Given the description of an element on the screen output the (x, y) to click on. 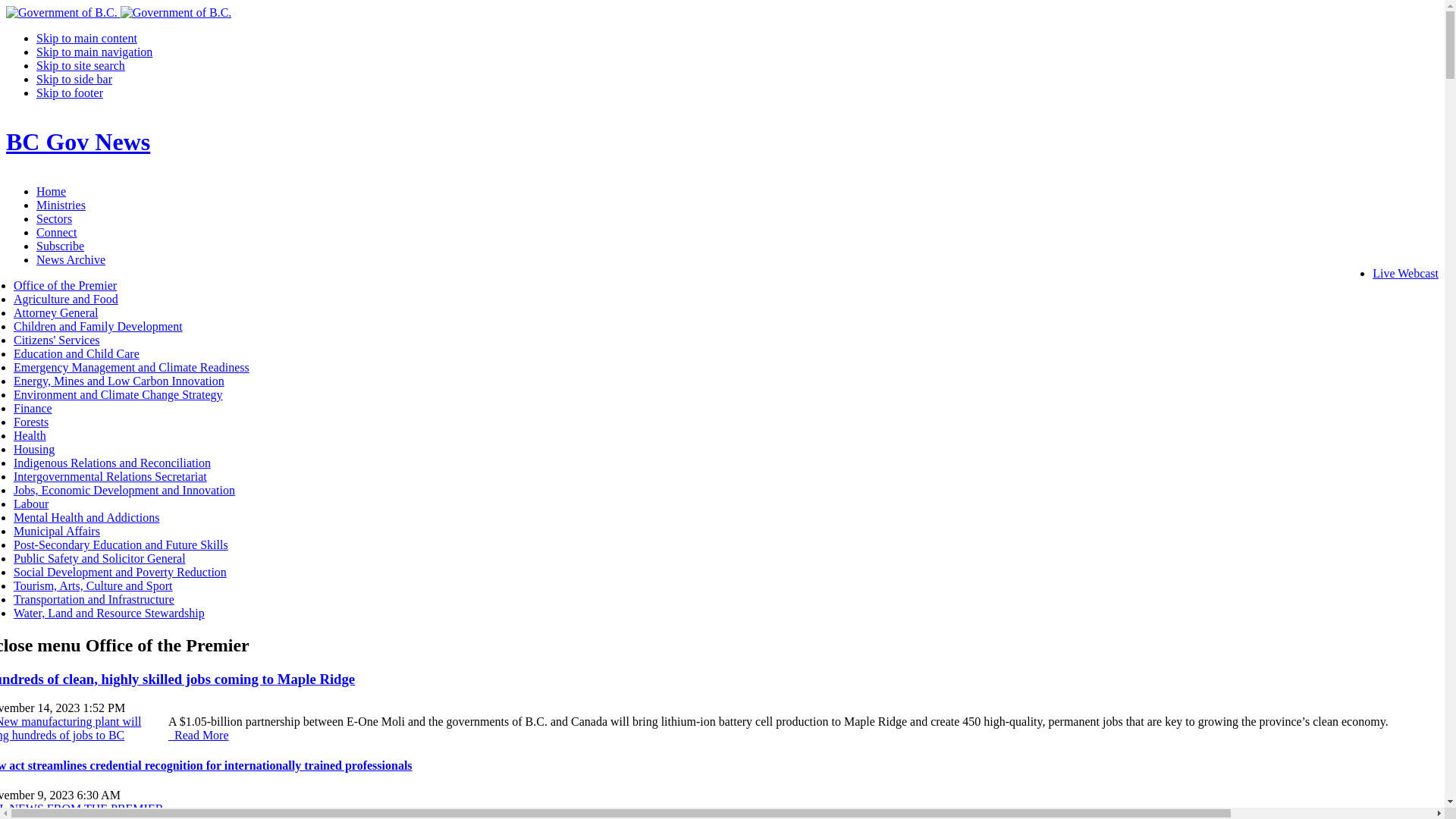
Water, Land and Resource Stewardship Element type: text (108, 612)
Subscribe Element type: text (60, 245)
Emergency Management and Climate Readiness Element type: text (131, 366)
Home Element type: text (50, 191)
Connect Element type: text (56, 231)
Jobs, Economic Development and Innovation Element type: text (124, 489)
News Archive Element type: text (70, 259)
Municipal Affairs Element type: text (56, 530)
Agriculture and Food Element type: text (65, 298)
Education and Child Care Element type: text (76, 353)
Forests Element type: text (30, 421)
Energy, Mines and Low Carbon Innovation Element type: text (118, 380)
Post-Secondary Education and Future Skills Element type: text (120, 544)
Skip to site search Element type: text (80, 65)
Social Development and Poverty Reduction Element type: text (119, 571)
Environment and Climate Change Strategy Element type: text (117, 394)
Health Element type: text (29, 435)
Skip to side bar Element type: text (74, 78)
Government of B.C. Element type: hover (61, 12)
Public Safety and Solicitor General Element type: text (99, 558)
Skip to footer Element type: text (69, 92)
Skip to main navigation Element type: text (94, 51)
BC Gov News Element type: text (78, 141)
Housing Element type: text (33, 448)
Attorney General Element type: text (55, 312)
Children and Family Development Element type: text (97, 326)
Transportation and Infrastructure Element type: text (93, 599)
Labour Element type: text (30, 503)
Live Webcast Element type: text (1405, 272)
Citizens' Services Element type: text (56, 339)
Tourism, Arts, Culture and Sport Element type: text (92, 585)
Ministries Element type: text (60, 204)
Mental Health and Addictions Element type: text (86, 517)
Sectors Element type: text (54, 218)
Skip to main content Element type: text (86, 37)
Intergovernmental Relations Secretariat Element type: text (110, 476)
  Read More Element type: text (198, 734)
Finance Element type: text (32, 407)
Indigenous Relations and Reconciliation Element type: text (111, 462)
Office of the Premier Element type: text (64, 285)
